Given the description of an element on the screen output the (x, y) to click on. 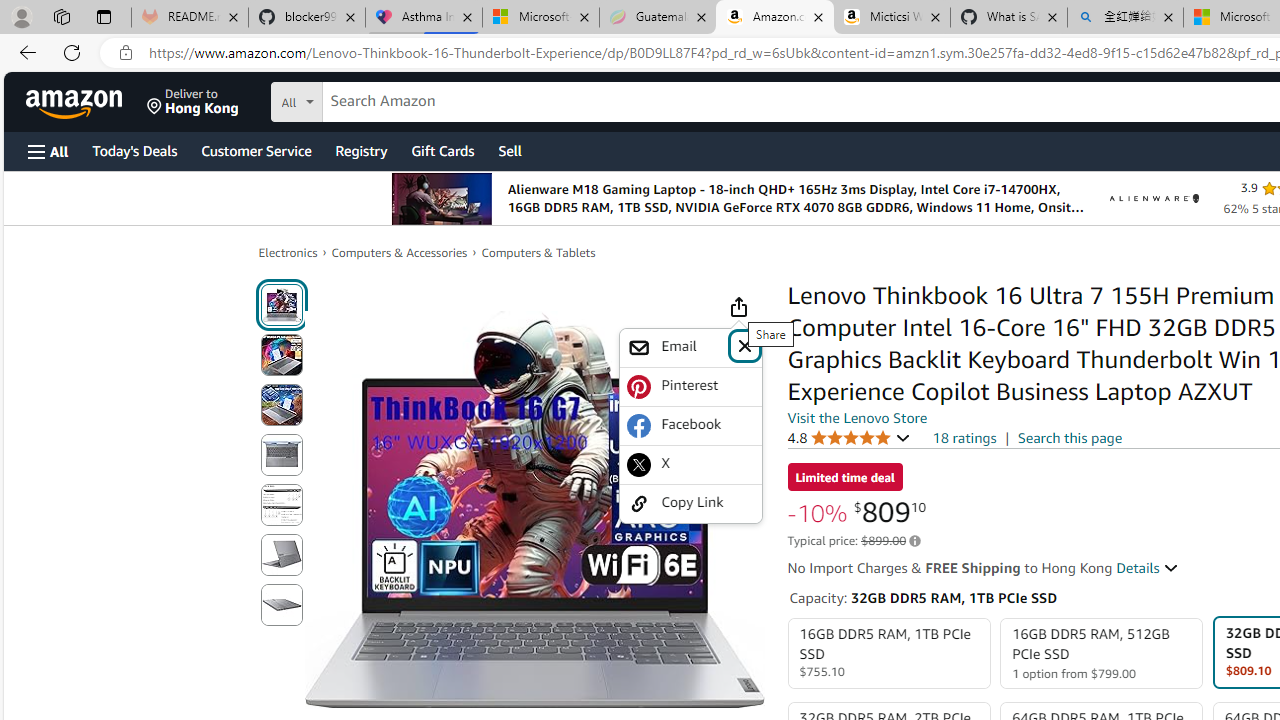
Amazon (76, 101)
Pinterest (690, 385)
Learn more about Amazon pricing and savings (914, 541)
Deliver to Hong Kong (193, 101)
Search in (371, 99)
Logo (1153, 198)
X (690, 464)
18 ratings (964, 438)
Today's Deals (134, 150)
Computers & Tablets (538, 251)
Close Share Popup (744, 344)
